Given the description of an element on the screen output the (x, y) to click on. 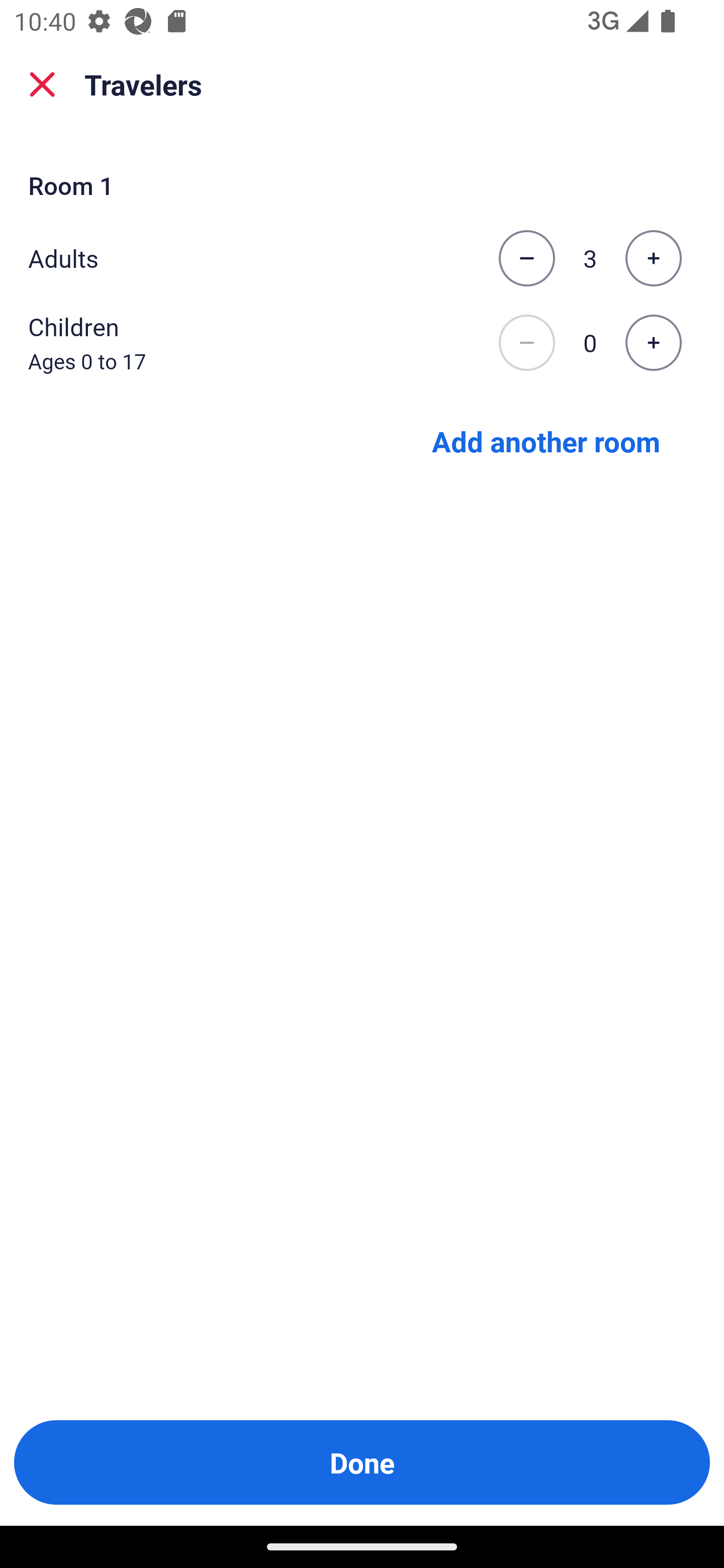
close (42, 84)
Decrease the number of adults (526, 258)
Increase the number of adults (653, 258)
Decrease the number of children (526, 343)
Increase the number of children (653, 343)
Add another room (545, 440)
Done (361, 1462)
